Given the description of an element on the screen output the (x, y) to click on. 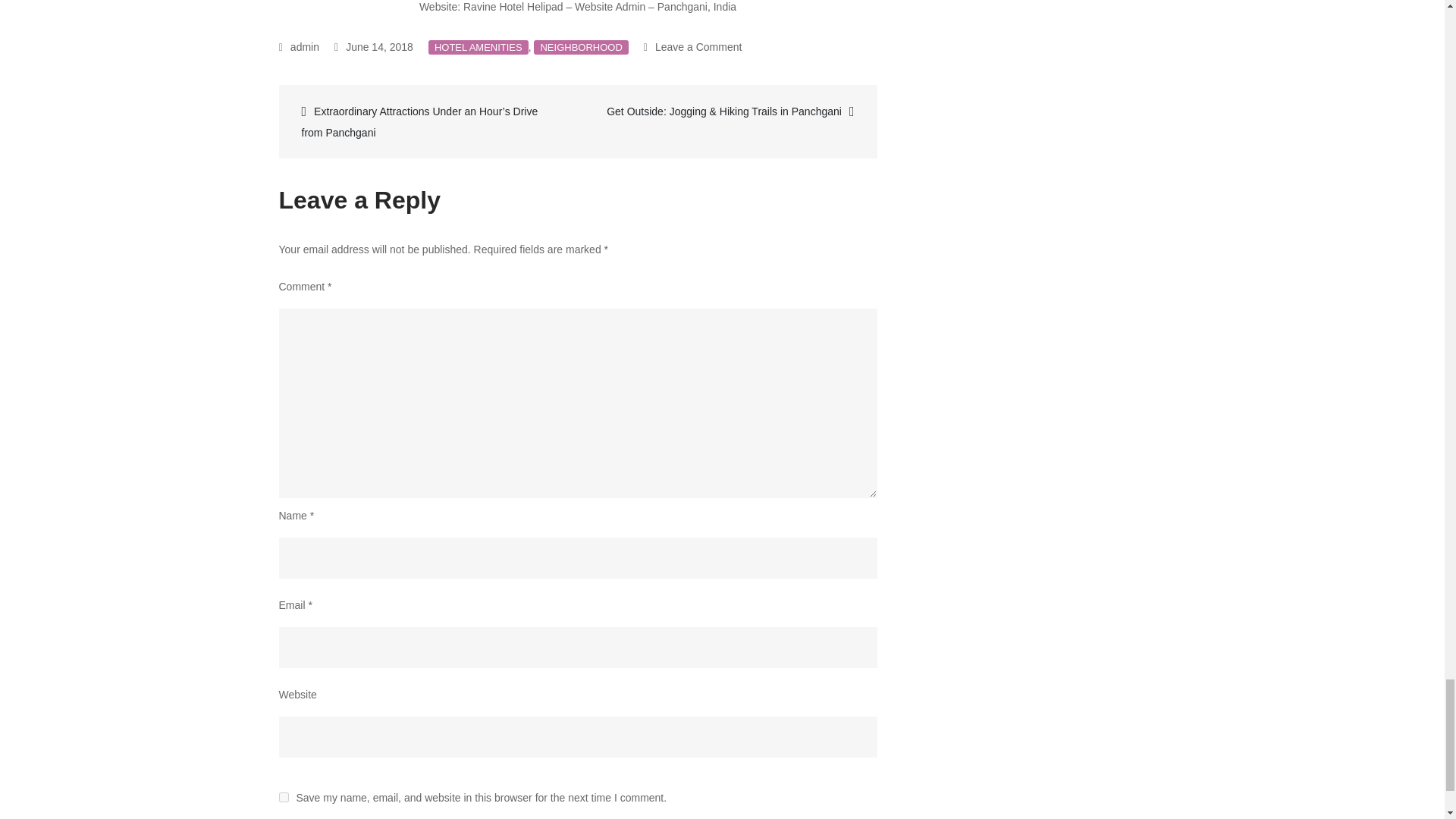
HOTEL AMENITIES (478, 47)
yes (283, 797)
June 14, 2018 (373, 46)
admin (298, 46)
NEIGHBORHOOD (580, 47)
